Given the description of an element on the screen output the (x, y) to click on. 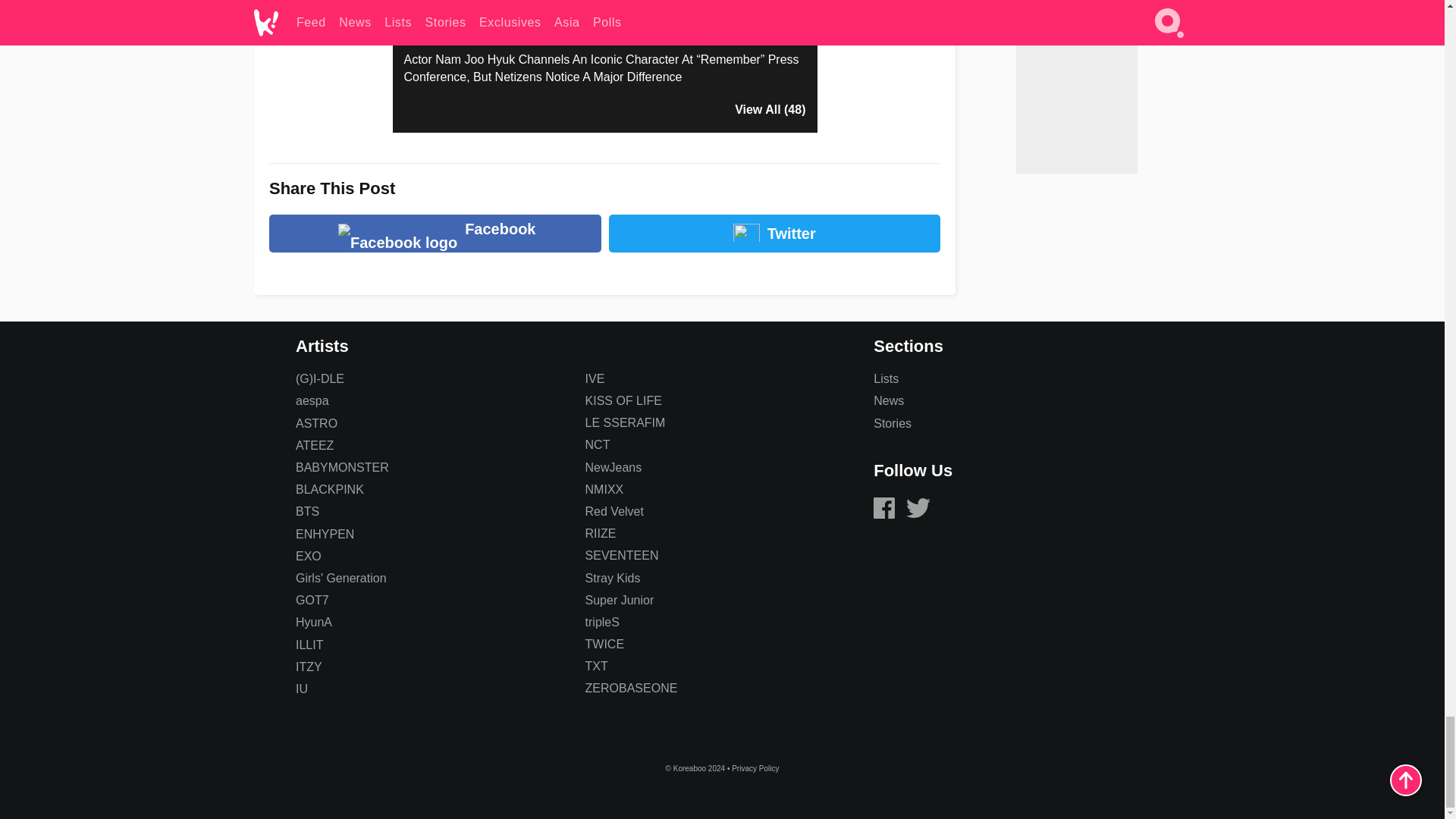
BABYMONSTER (341, 467)
ASTRO (316, 422)
ATEEZ (314, 445)
HyunA (313, 621)
GOT7 (312, 599)
BLACKPINK (329, 489)
KISS OF LIFE (623, 400)
EXO (308, 555)
ILLIT (309, 644)
aespa (312, 400)
ENHYPEN (324, 533)
Girls' Generation (341, 577)
BTS (306, 511)
ITZY (308, 666)
IU (301, 688)
